Given the description of an element on the screen output the (x, y) to click on. 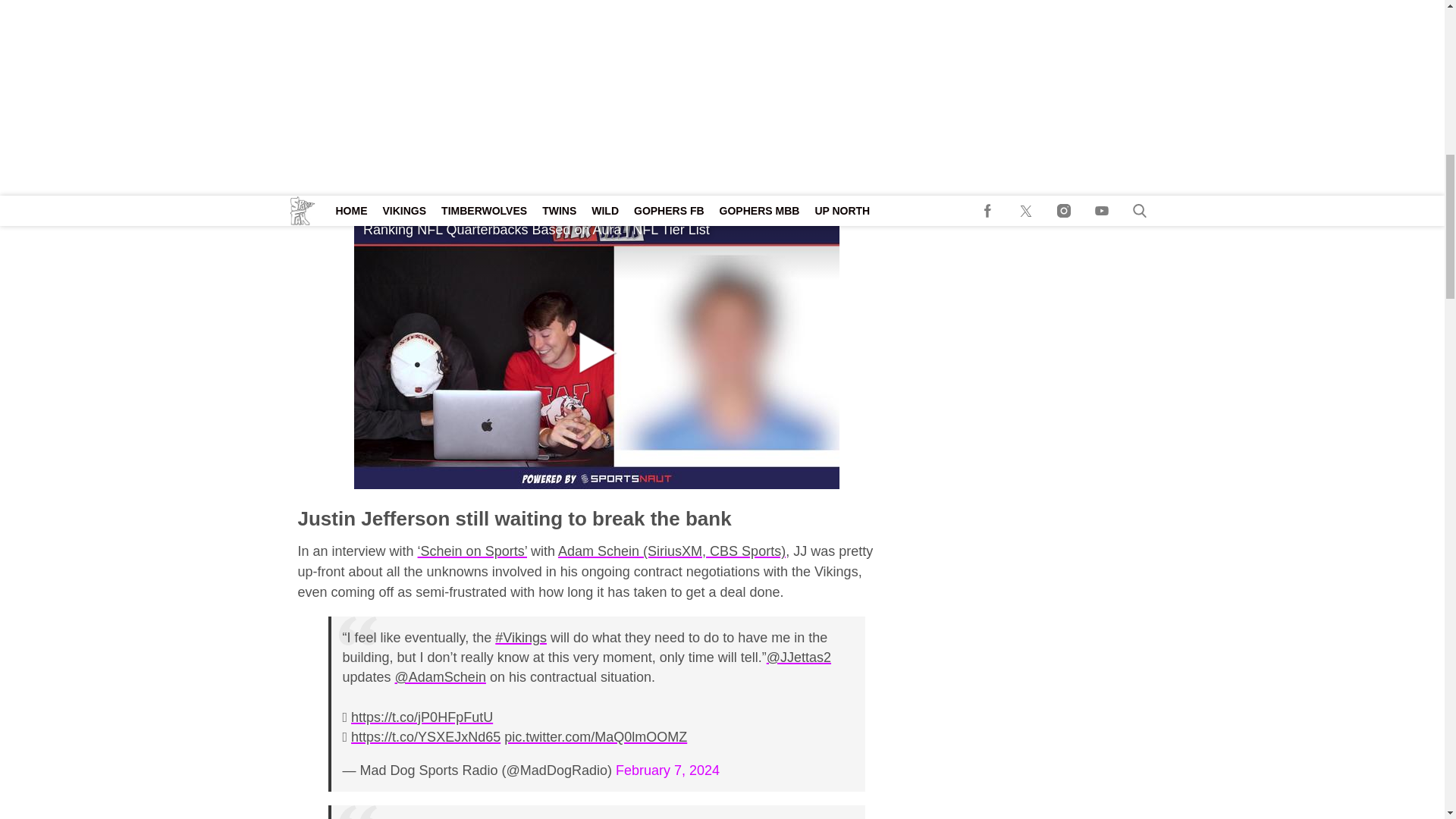
February 7, 2024 (667, 770)
Play Video (595, 352)
Play Video (596, 352)
